Given the description of an element on the screen output the (x, y) to click on. 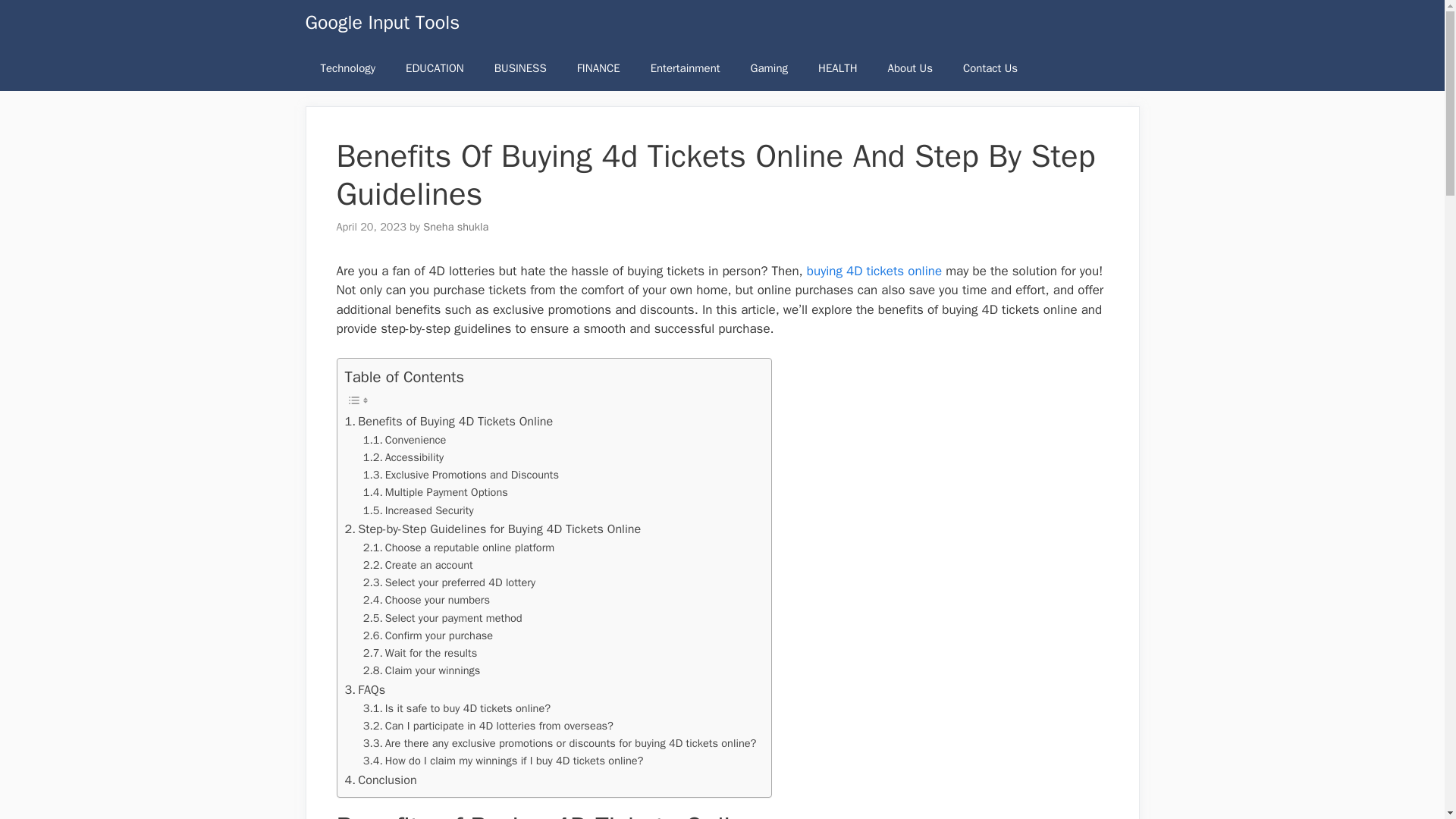
Create an account (417, 565)
Choose your numbers (425, 600)
Select your preferred 4D lottery (448, 582)
BUSINESS (520, 67)
Accessibility (403, 457)
Convenience (404, 439)
Sneha shukla (455, 226)
Confirm your purchase (427, 635)
Confirm your purchase (427, 635)
Multiple Payment Options (435, 492)
